Given the description of an element on the screen output the (x, y) to click on. 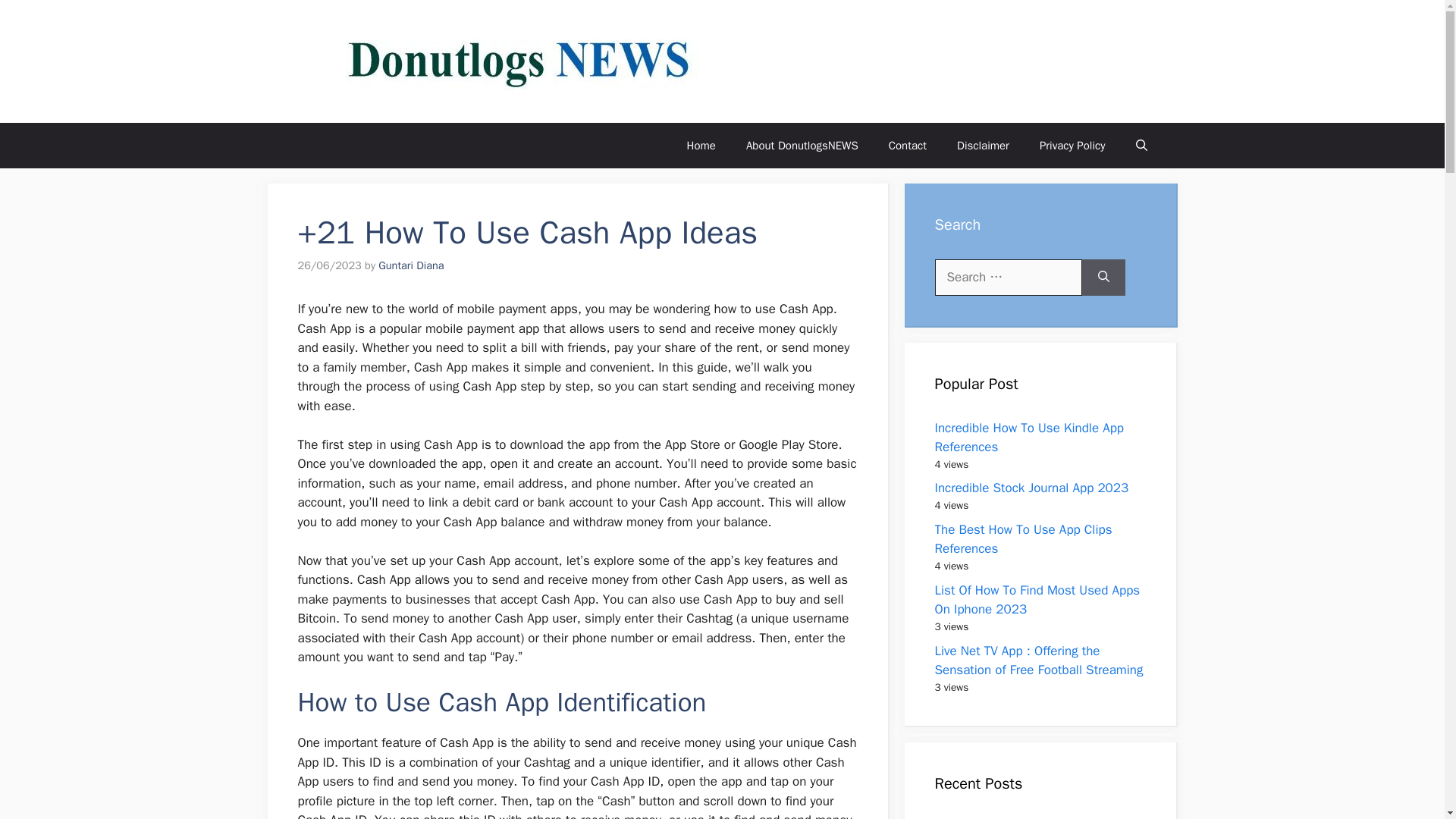
List Of How To Find Most Used Apps On Iphone 2023 (1037, 600)
About DonutlogsNEWS (801, 145)
Contact (907, 145)
View all posts by Guntari Diana (411, 264)
Donutlogs News (838, 60)
Search for: (1007, 277)
Incredible How To Use Kindle App References (1029, 437)
Privacy Policy (1073, 145)
The Best How To Use App Clips References (1023, 539)
Home (700, 145)
Incredible Stock Journal App 2023 (1031, 487)
Disclaimer (983, 145)
Guntari Diana (411, 264)
